Given the description of an element on the screen output the (x, y) to click on. 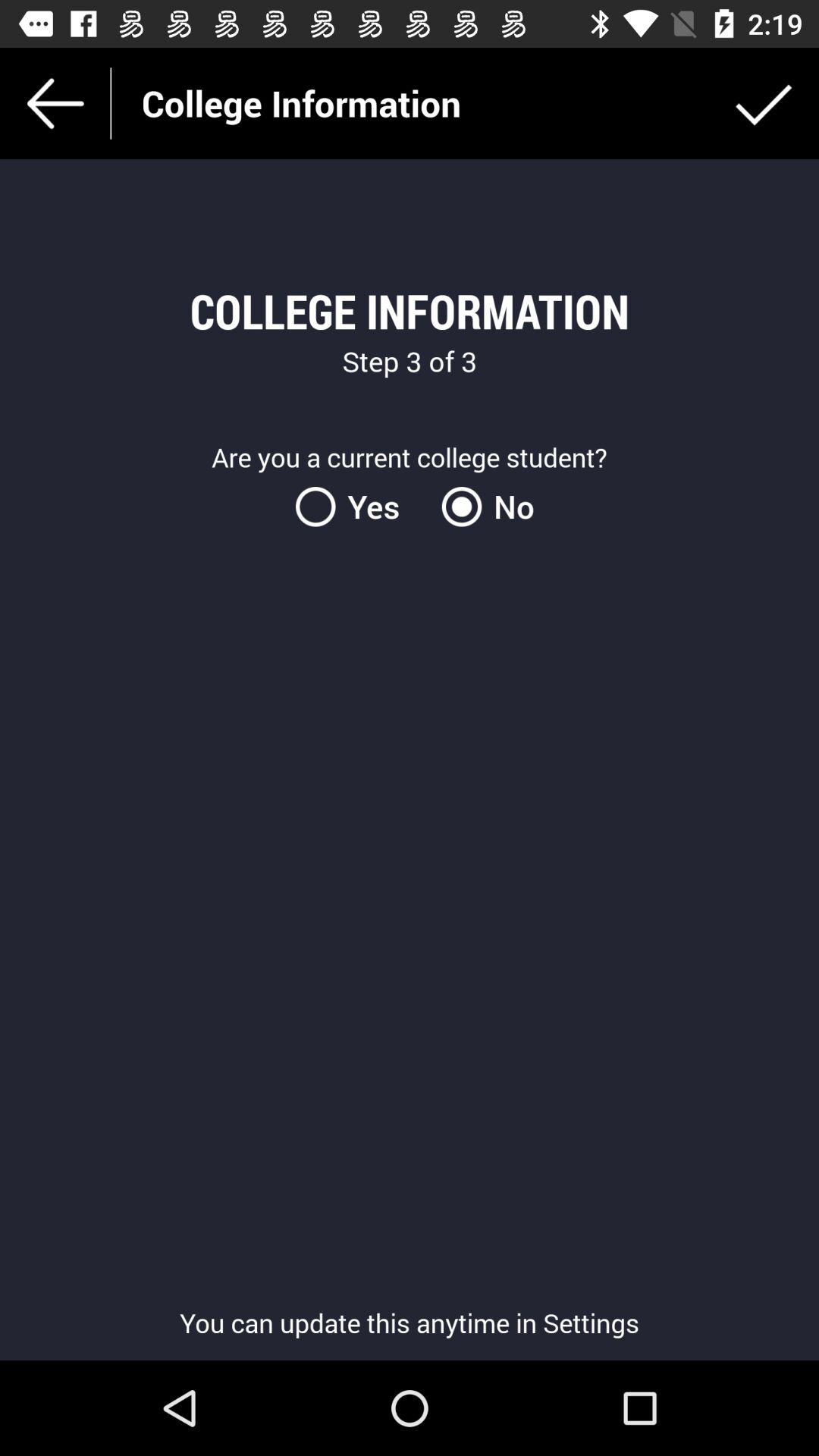
launch the item above you can update (481, 506)
